Given the description of an element on the screen output the (x, y) to click on. 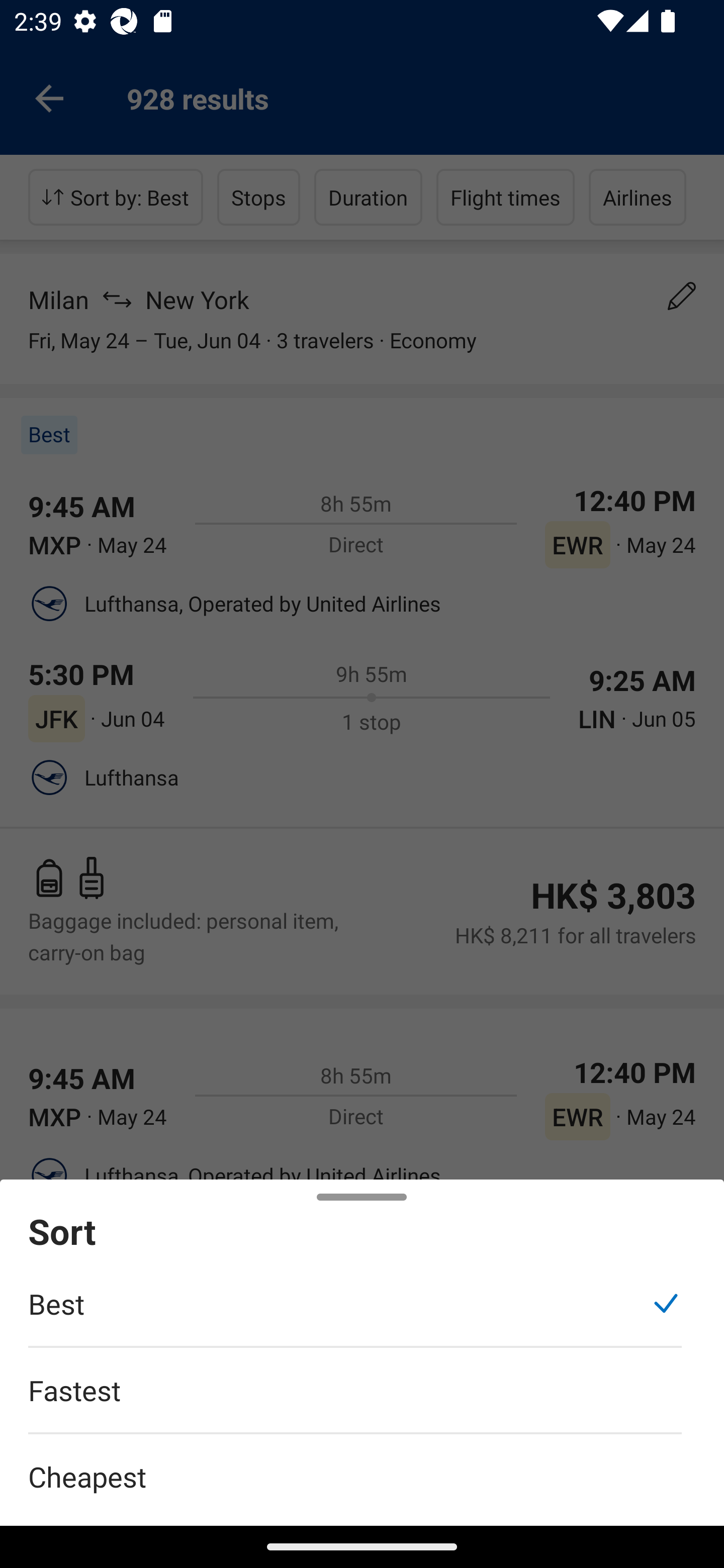
Best (355, 1313)
Fastest (355, 1399)
Cheapest (362, 1465)
